Given the description of an element on the screen output the (x, y) to click on. 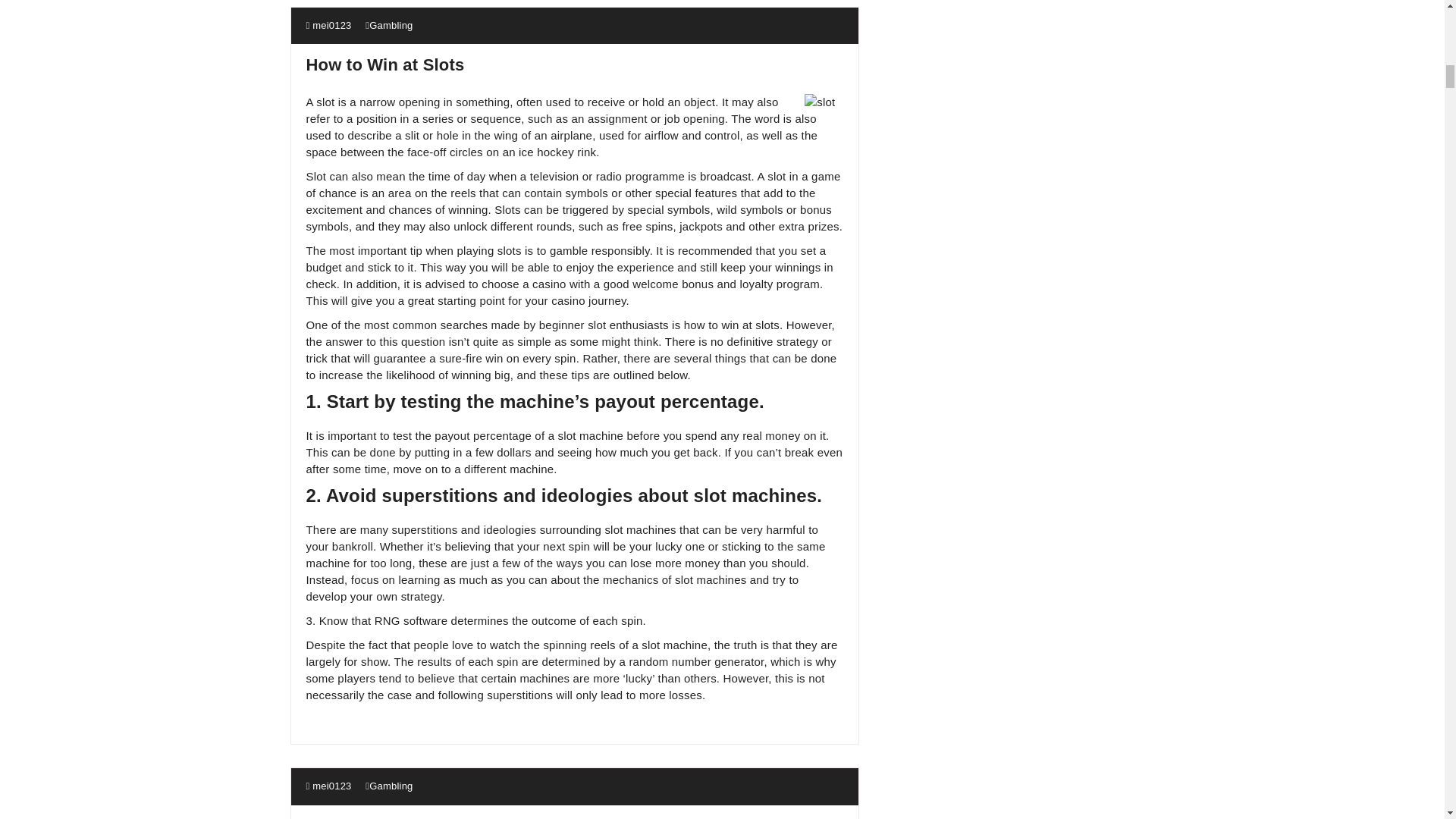
mei0123 (328, 785)
How to Win at Slots (384, 64)
mei0123 (328, 25)
Gambling (390, 25)
